Given the description of an element on the screen output the (x, y) to click on. 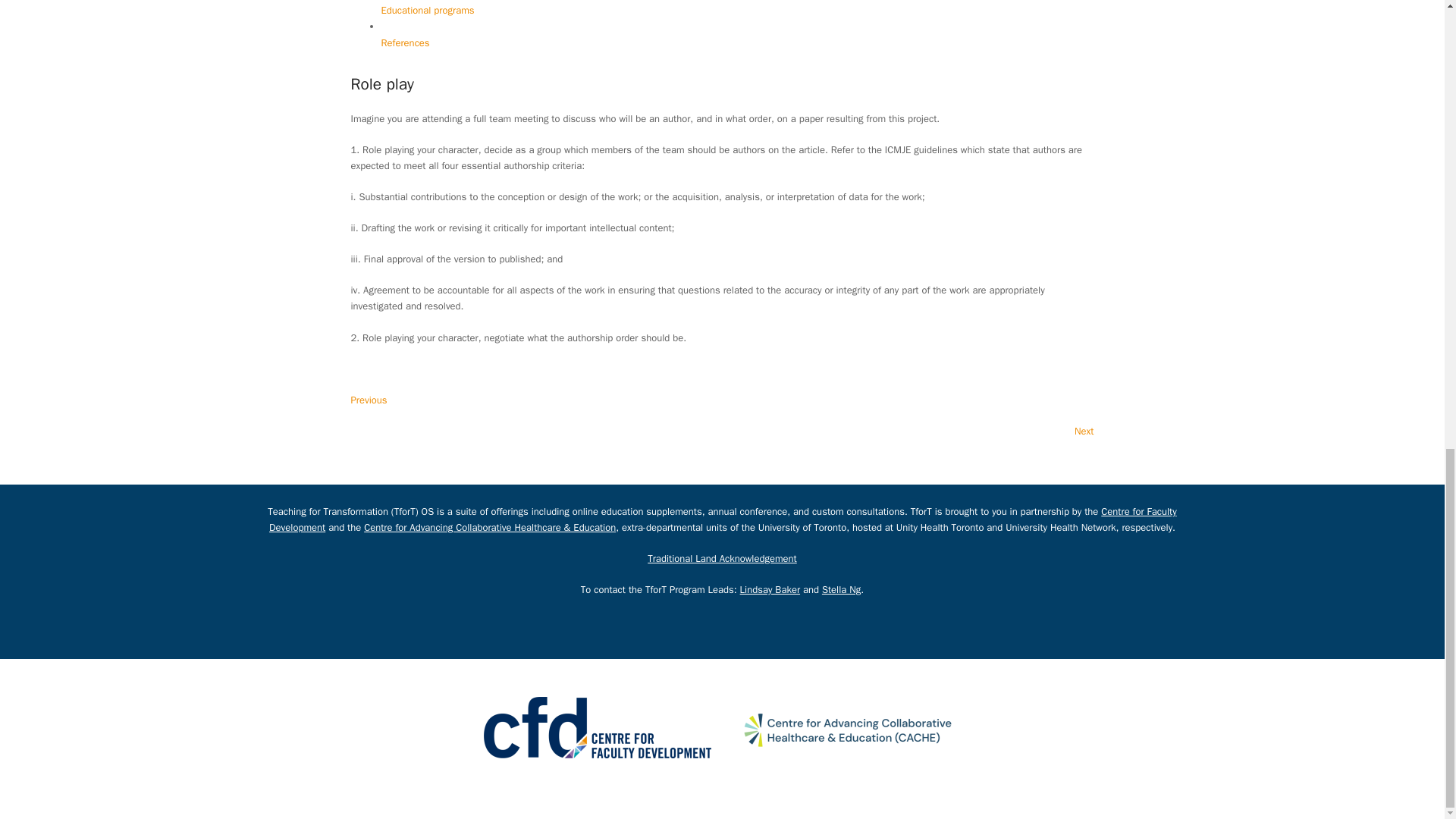
CACHE 2 line logo w acro (846, 729)
actual - CFD-Logo (597, 726)
